Given the description of an element on the screen output the (x, y) to click on. 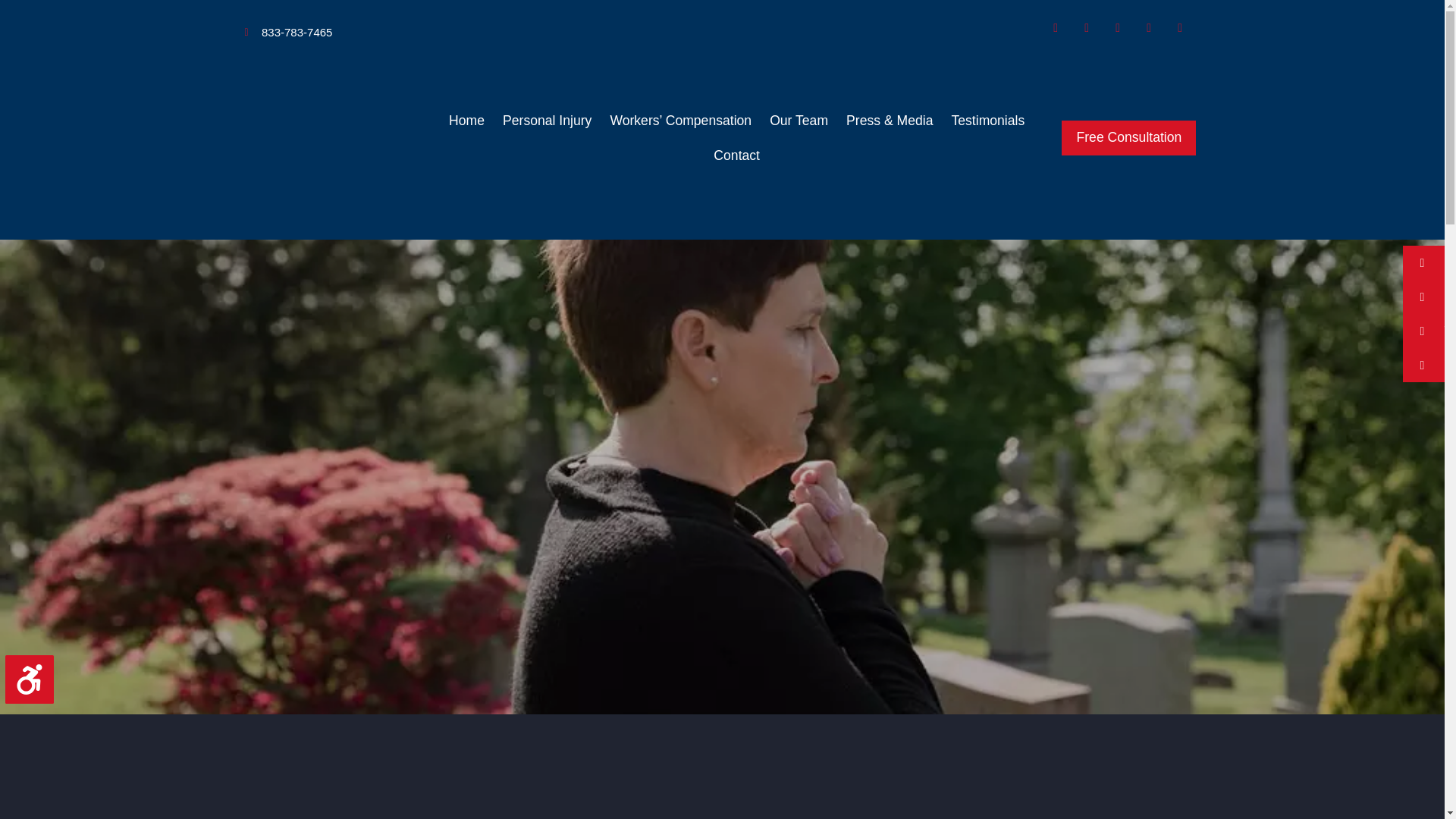
Personal Injury (546, 120)
833-783-7465 (287, 32)
Testimonials (987, 120)
Home (466, 120)
Contact (736, 155)
Accessibility (35, 685)
Our Team (798, 120)
